Given the description of an element on the screen output the (x, y) to click on. 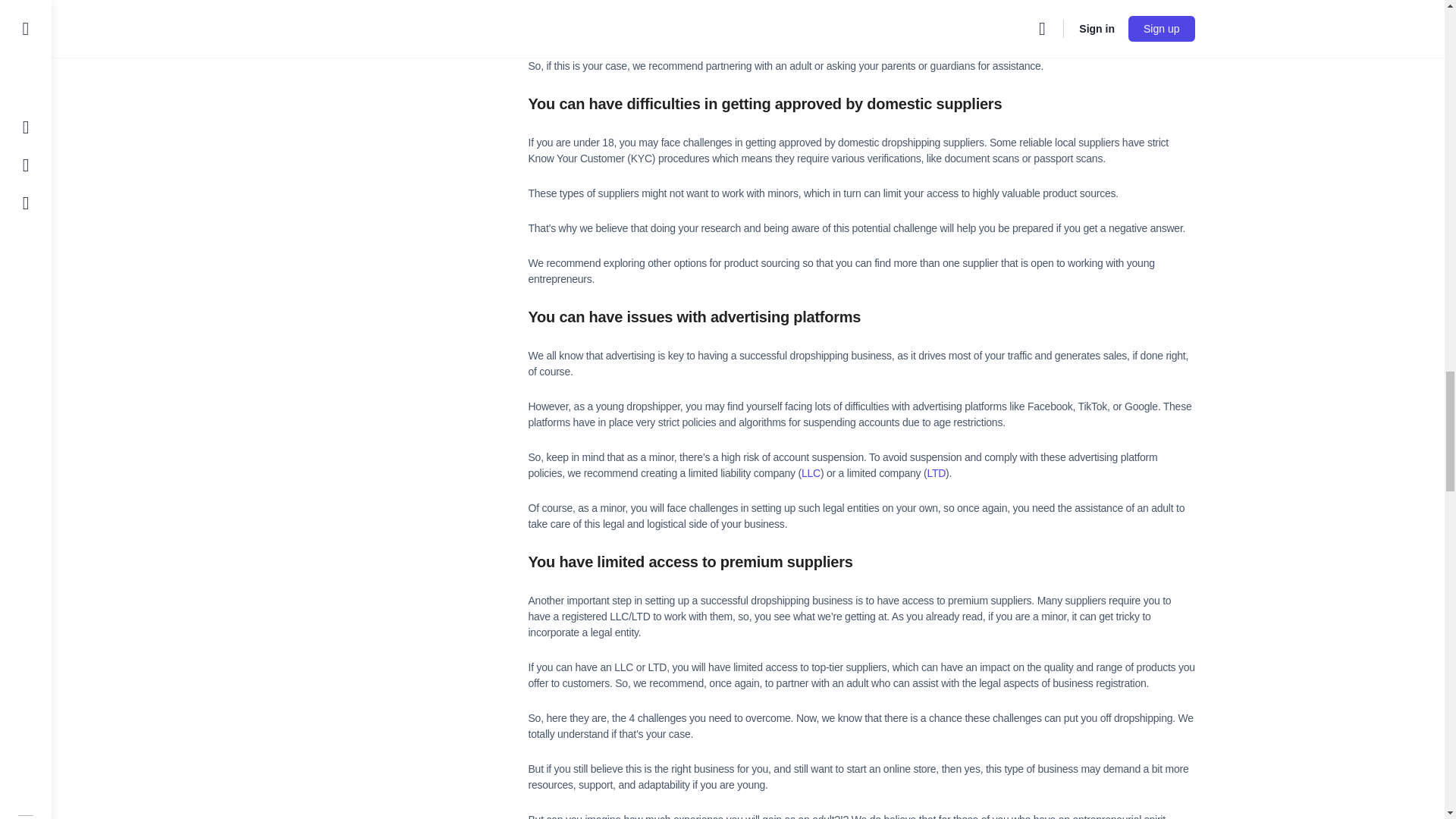
LLC (811, 472)
LTD (935, 472)
